Given the description of an element on the screen output the (x, y) to click on. 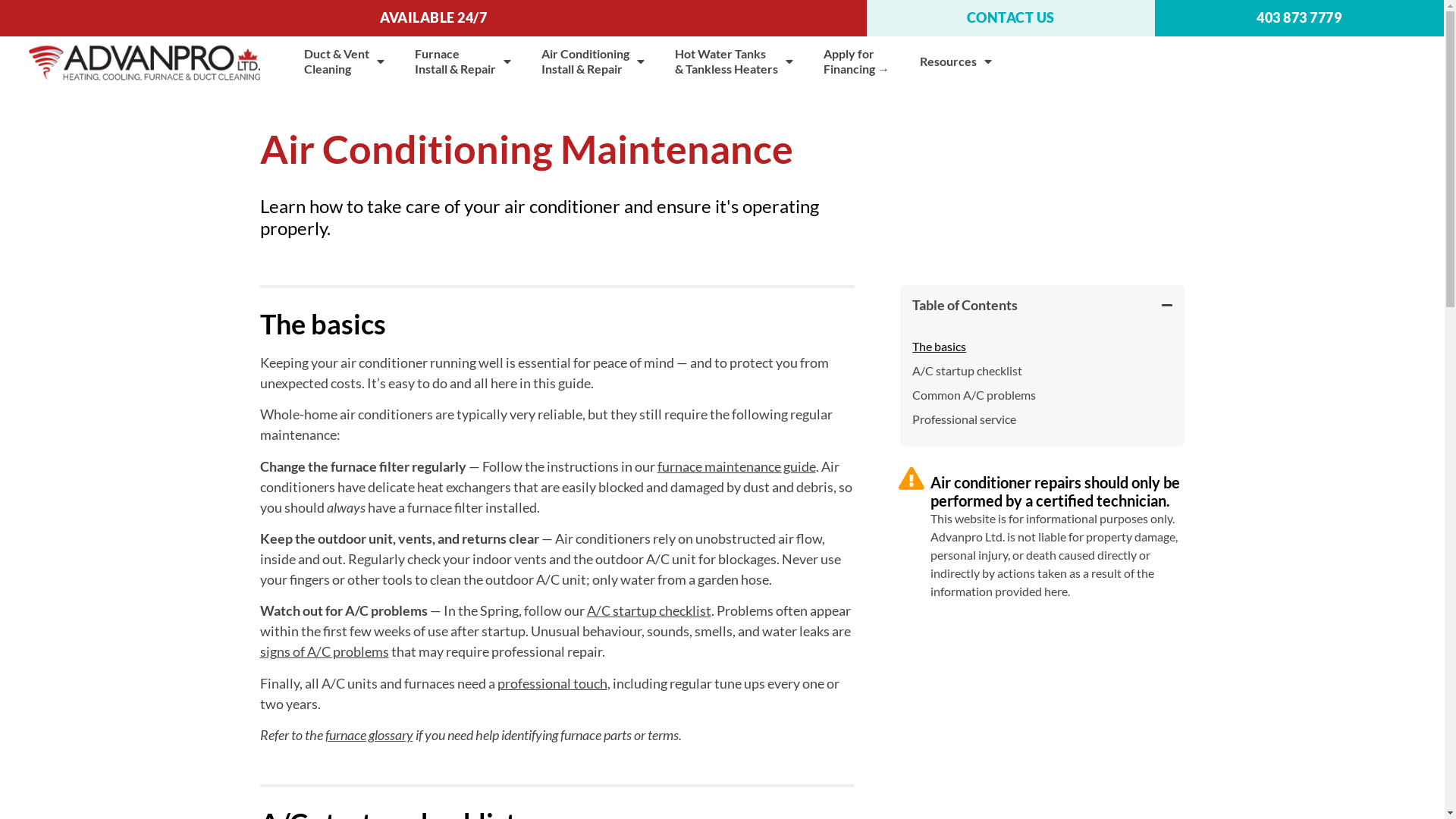
Hot Water Tanks
& Tankless Heaters Element type: text (733, 61)
furnace maintenance guide Element type: text (735, 466)
CONTACT US Element type: text (1010, 18)
A/C startup checklist Element type: text (648, 610)
touch Element type: text (588, 682)
signs of A/C problems Element type: text (323, 651)
The basics Element type: text (939, 346)
403 873 7779 Element type: text (1298, 18)
Common A/C problems Element type: text (973, 394)
A/C startup checklist Element type: text (967, 370)
professional Element type: text (534, 682)
Furnace
Install & Repair Element type: text (462, 61)
Duct & Vent
Cleaning Element type: text (343, 61)
furnace glossary Element type: text (368, 734)
Air Conditioning
Install & Repair Element type: text (592, 61)
Professional service Element type: text (964, 419)
Resources Element type: text (955, 61)
